Given the description of an element on the screen output the (x, y) to click on. 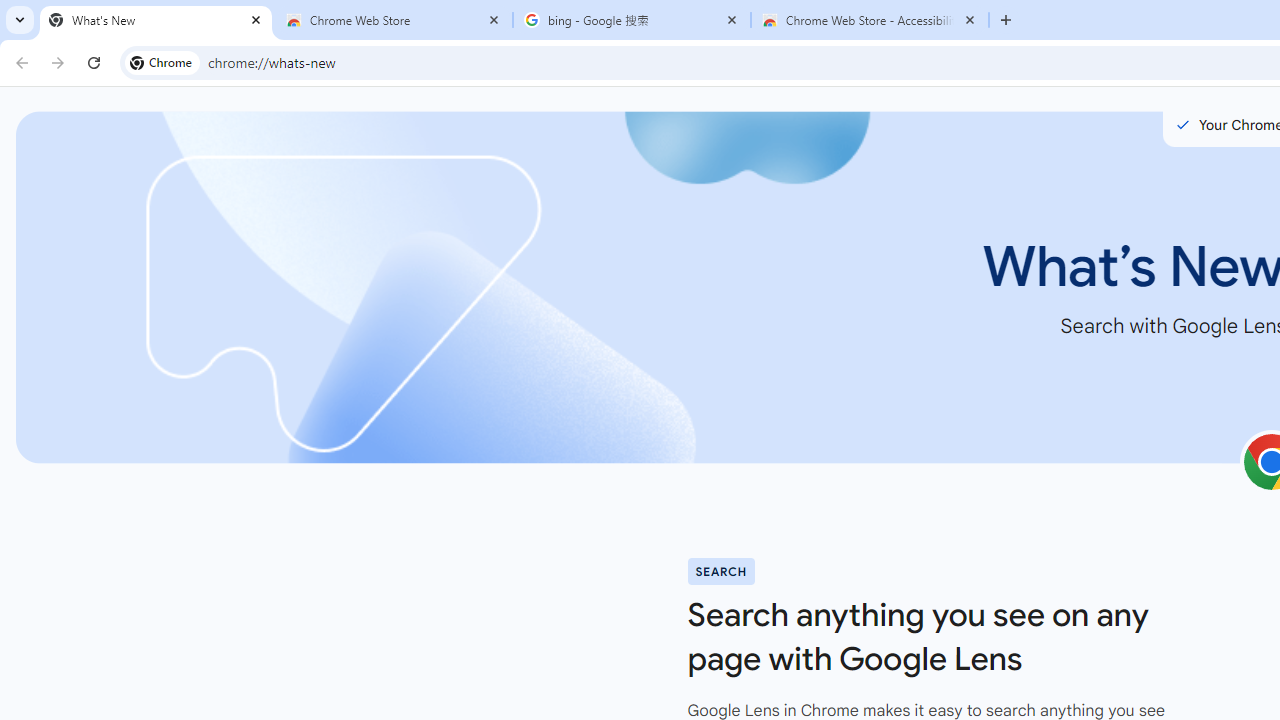
Chrome Web Store - Accessibility (870, 20)
Chrome Web Store (394, 20)
What's New (156, 20)
